Given the description of an element on the screen output the (x, y) to click on. 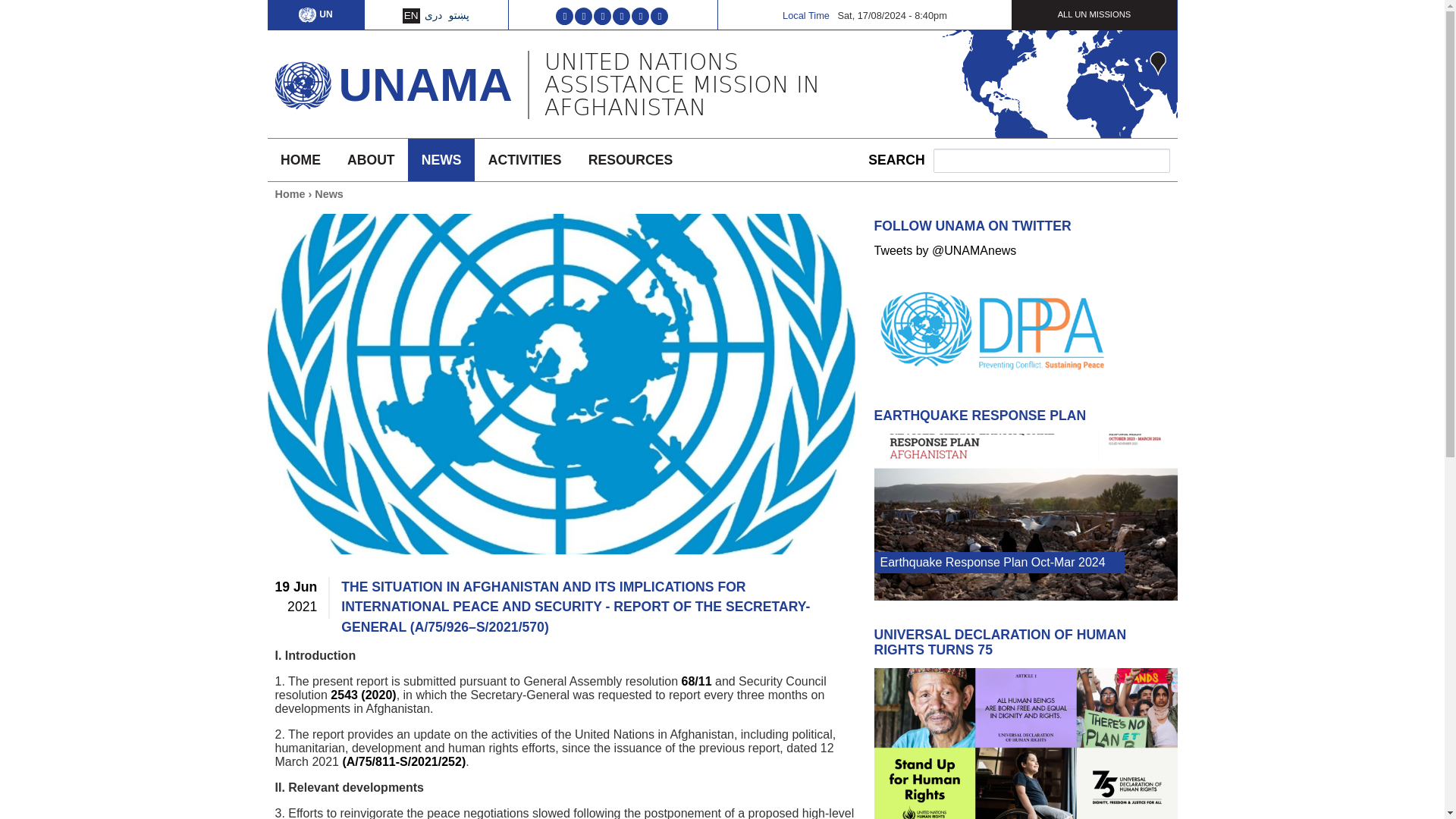
EN (411, 15)
Home (424, 84)
NEWS (440, 159)
Enter the terms you wish to search for. (1051, 160)
UN (314, 14)
UNAMA (424, 84)
ACTIVITIES (524, 159)
ALL UN MISSIONS (1094, 13)
Home (301, 80)
RESOURCES (630, 159)
